Given the description of an element on the screen output the (x, y) to click on. 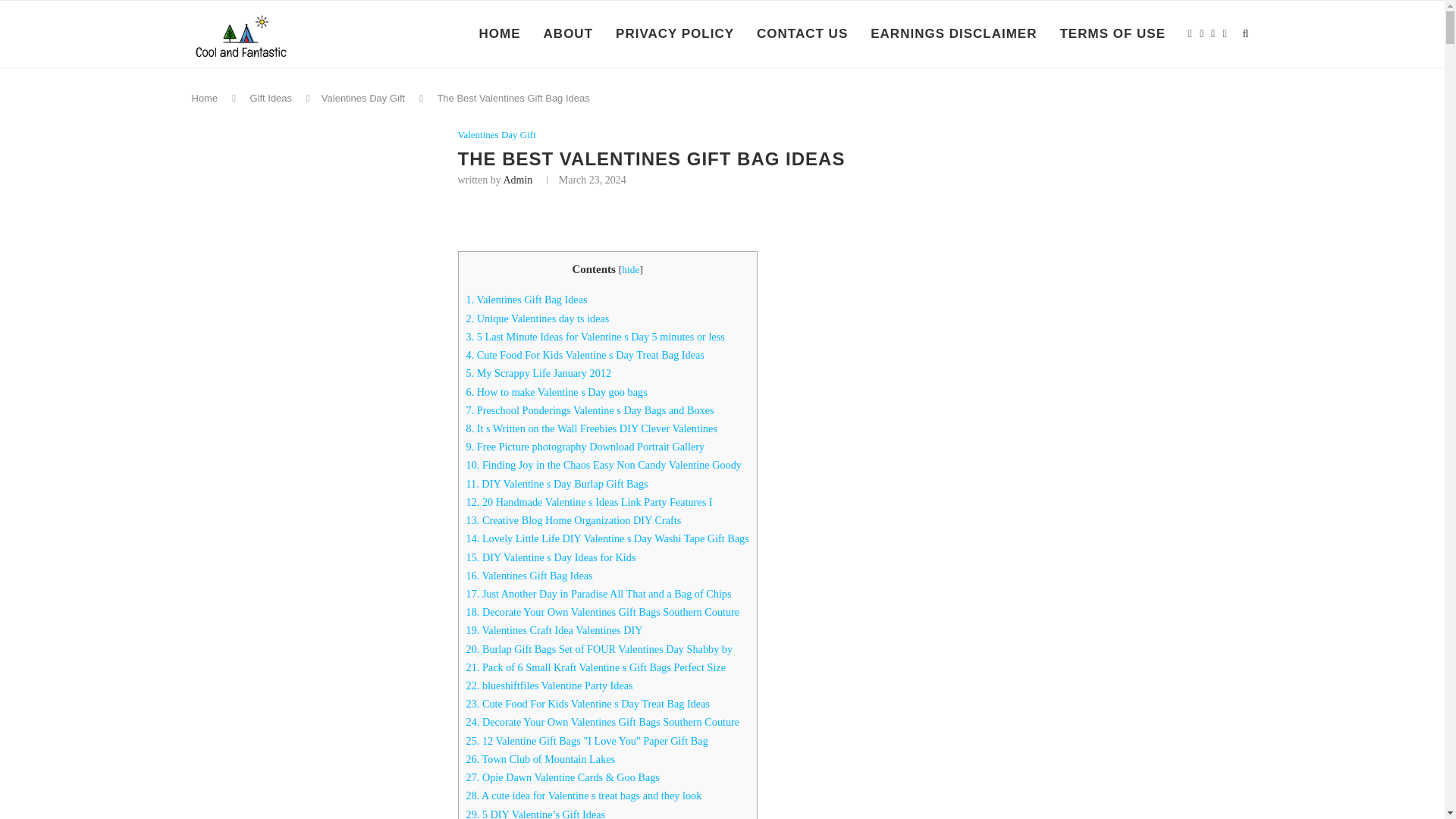
Valentines Day Gift (362, 98)
4. Cute Food For Kids Valentine s Day Treat Bag Ideas (584, 354)
TERMS OF USE (1112, 33)
2. Unique Valentines day ts ideas (536, 318)
CONTACT US (802, 33)
5. My Scrappy Life January 2012 (538, 372)
PRIVACY POLICY (674, 33)
6. How to make Valentine s Day goo bags (555, 391)
EARNINGS DISCLAIMER (953, 33)
1. Valentines Gift Bag Ideas (525, 299)
